Given the description of an element on the screen output the (x, y) to click on. 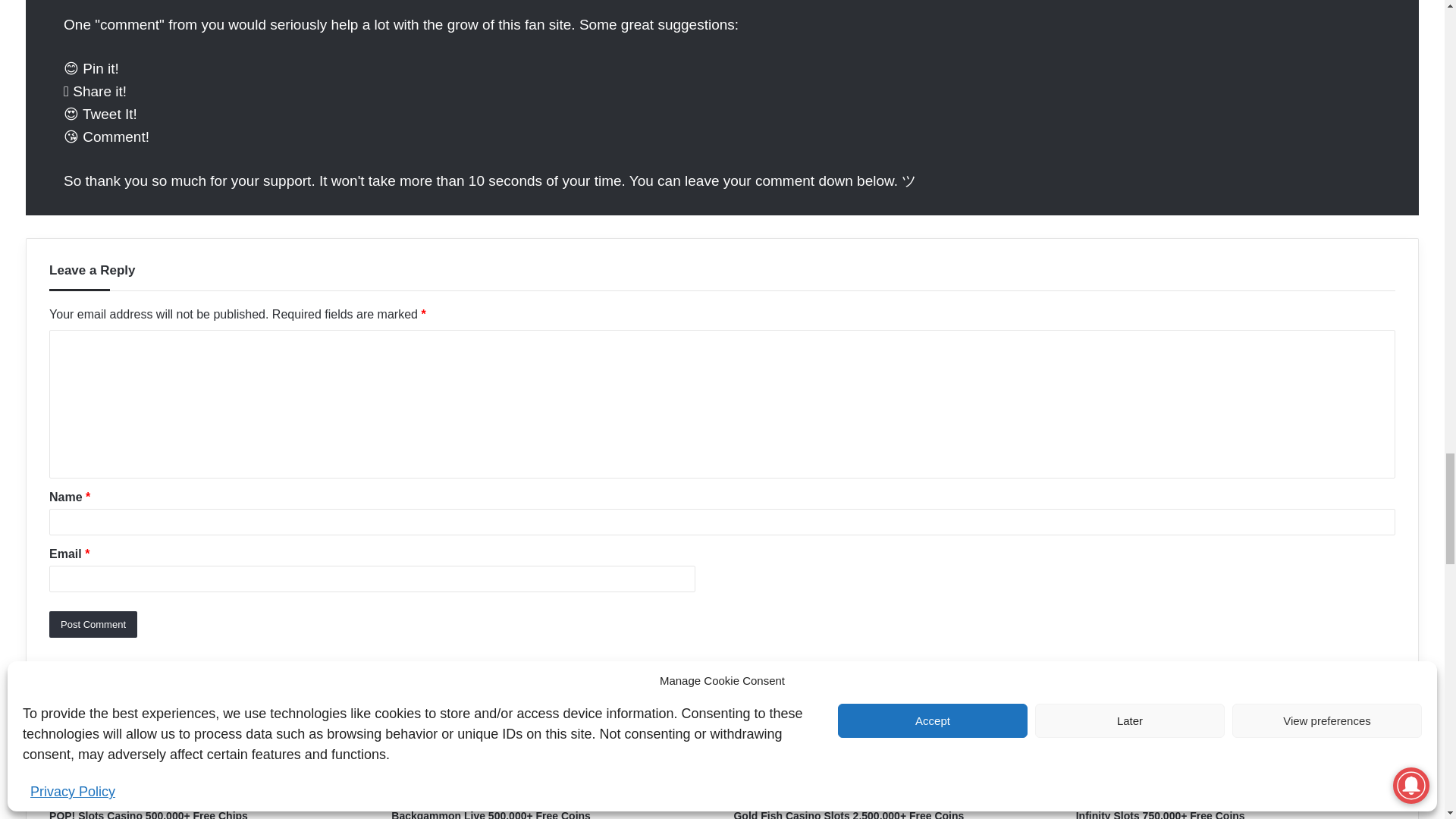
Post Comment (92, 624)
